Given the description of an element on the screen output the (x, y) to click on. 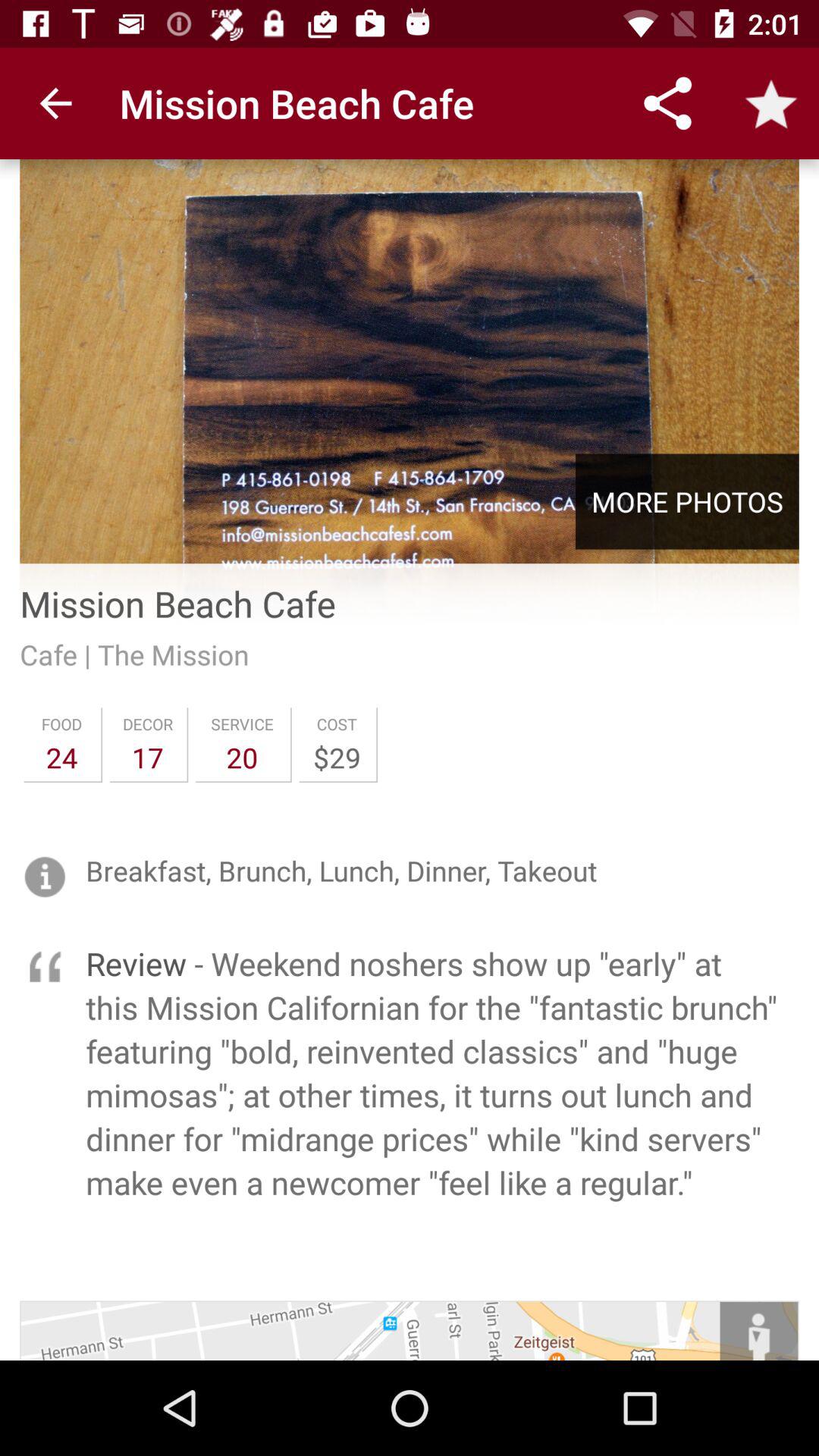
open icon on the right (687, 501)
